Given the description of an element on the screen output the (x, y) to click on. 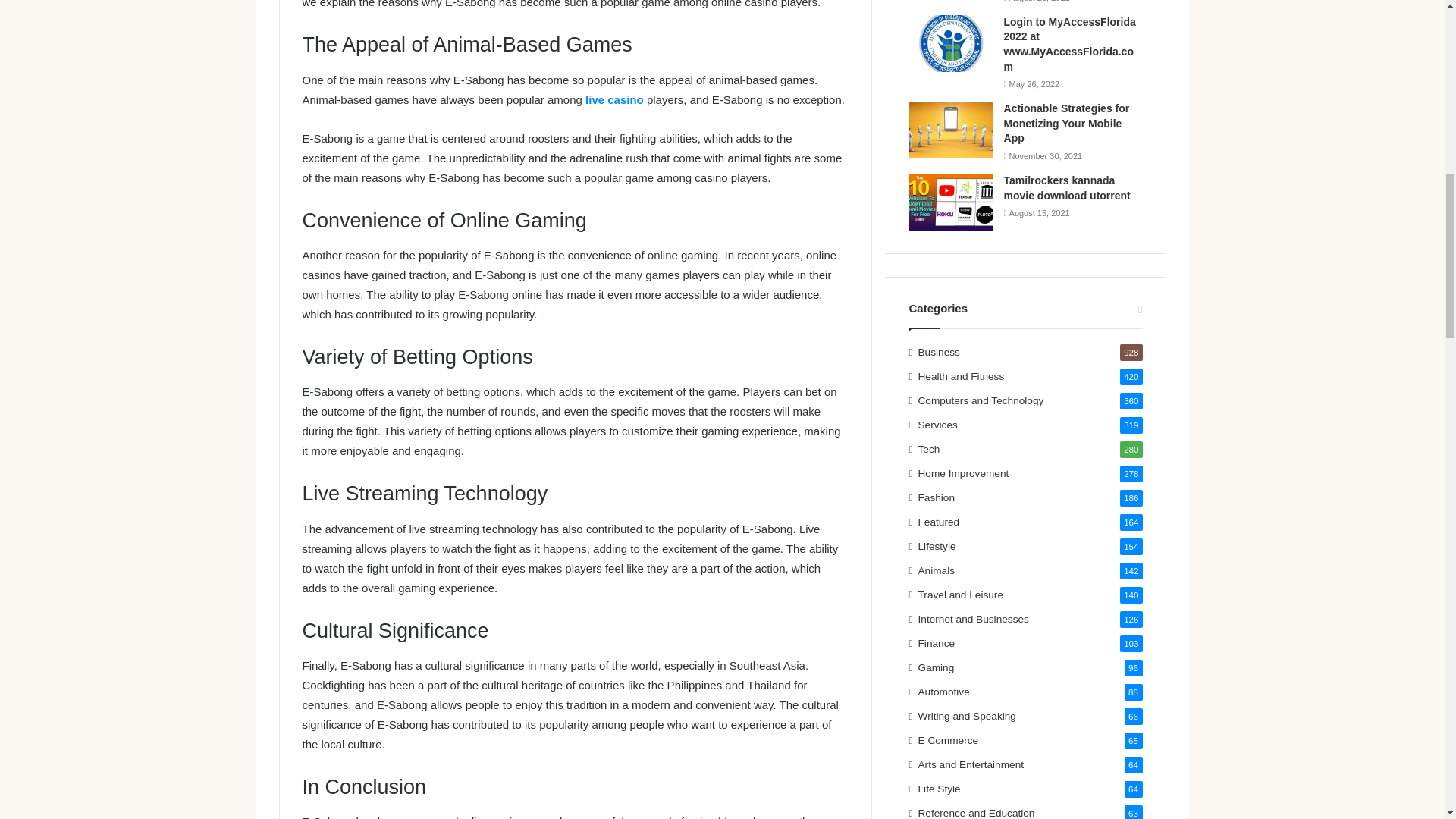
live casino (614, 99)
